Given the description of an element on the screen output the (x, y) to click on. 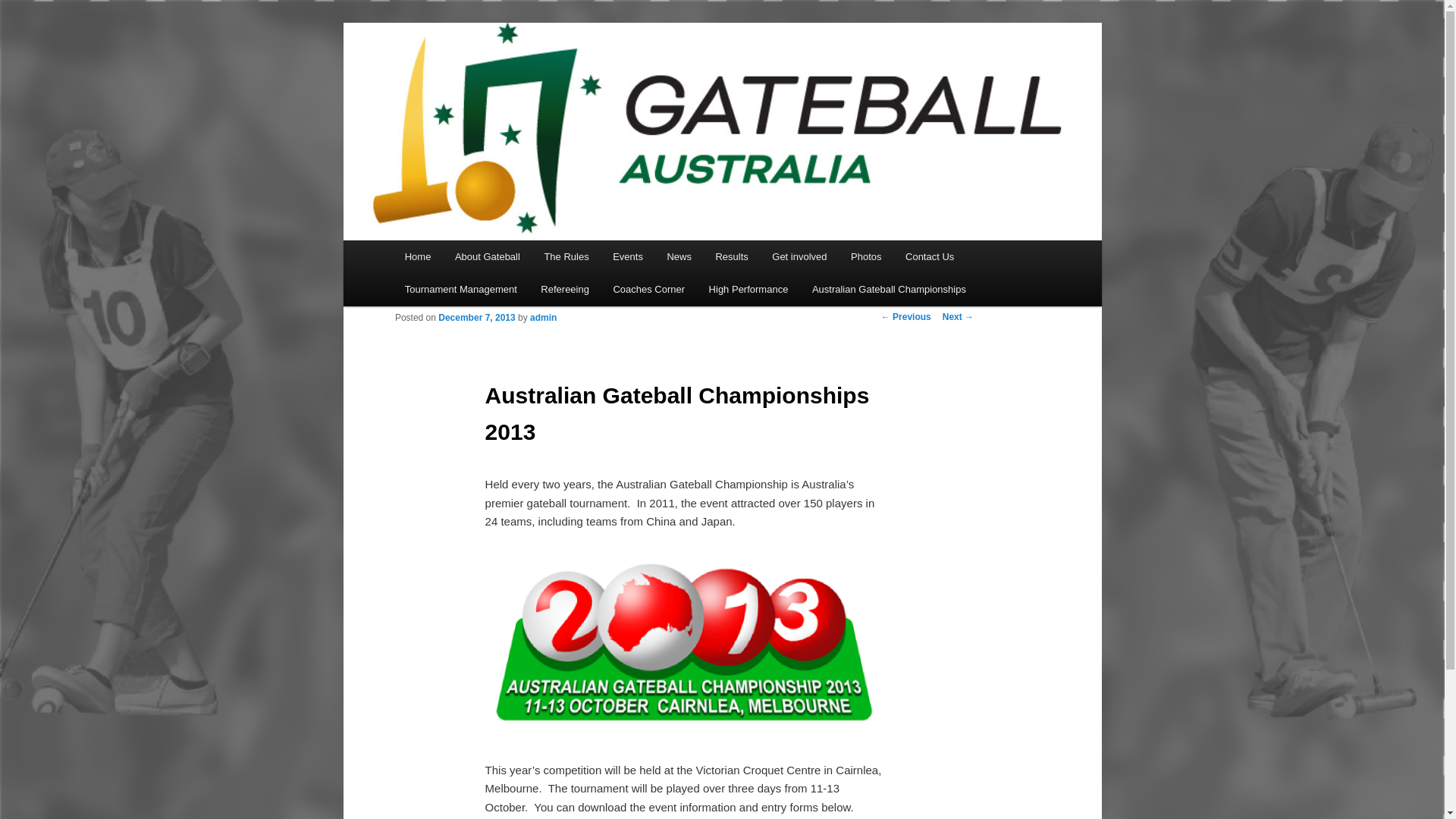
Get involved (800, 256)
Photos (865, 256)
Tournament Management (461, 288)
Events (626, 256)
The Rules (566, 256)
Refereeing (565, 288)
Home (417, 256)
News (679, 256)
Contact Us (929, 256)
gateball.com.au (486, 77)
Results (731, 256)
gateball.com.au (486, 77)
About Gateball (487, 256)
